Given the description of an element on the screen output the (x, y) to click on. 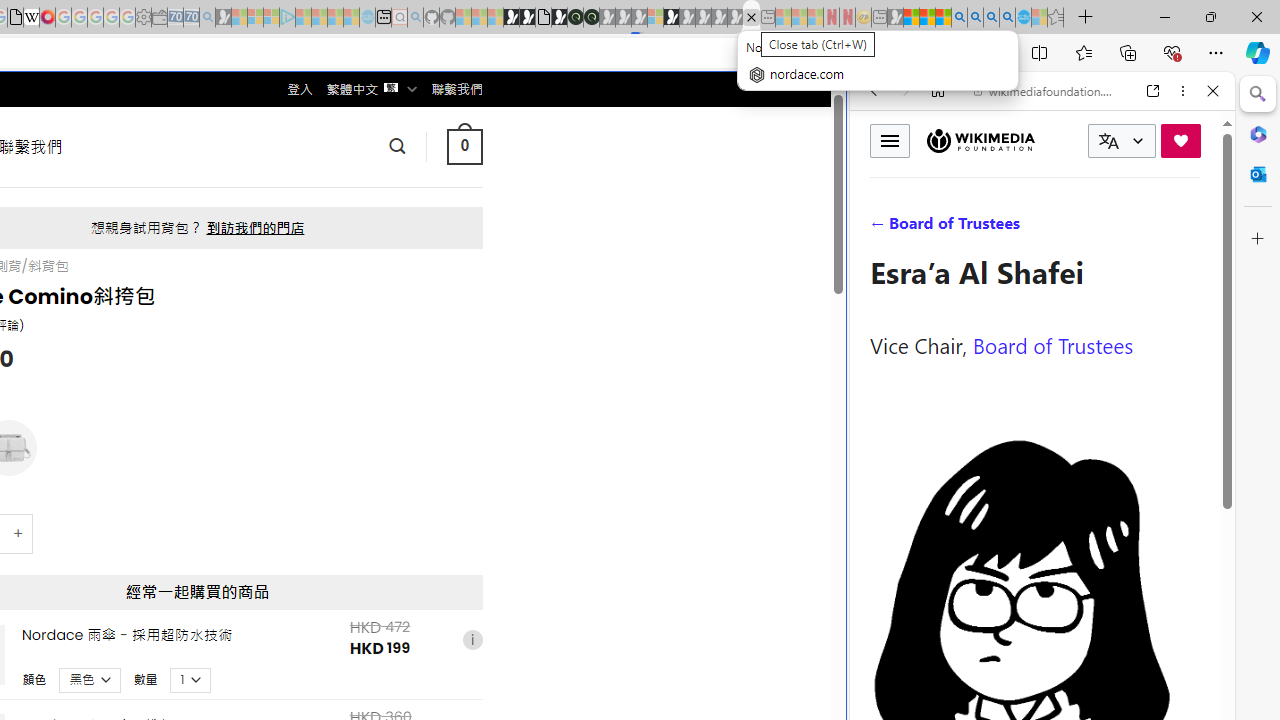
Favorites (1083, 52)
i (472, 639)
Settings and more (Alt+F) (1215, 52)
Wikimedia Foundation (980, 141)
Play Zoo Boom in your browser | Games from Microsoft Start (527, 17)
Sign in to your account - Sleeping (655, 17)
Global web icon (888, 669)
Favorites - Sleeping (1055, 17)
